Given the description of an element on the screen output the (x, y) to click on. 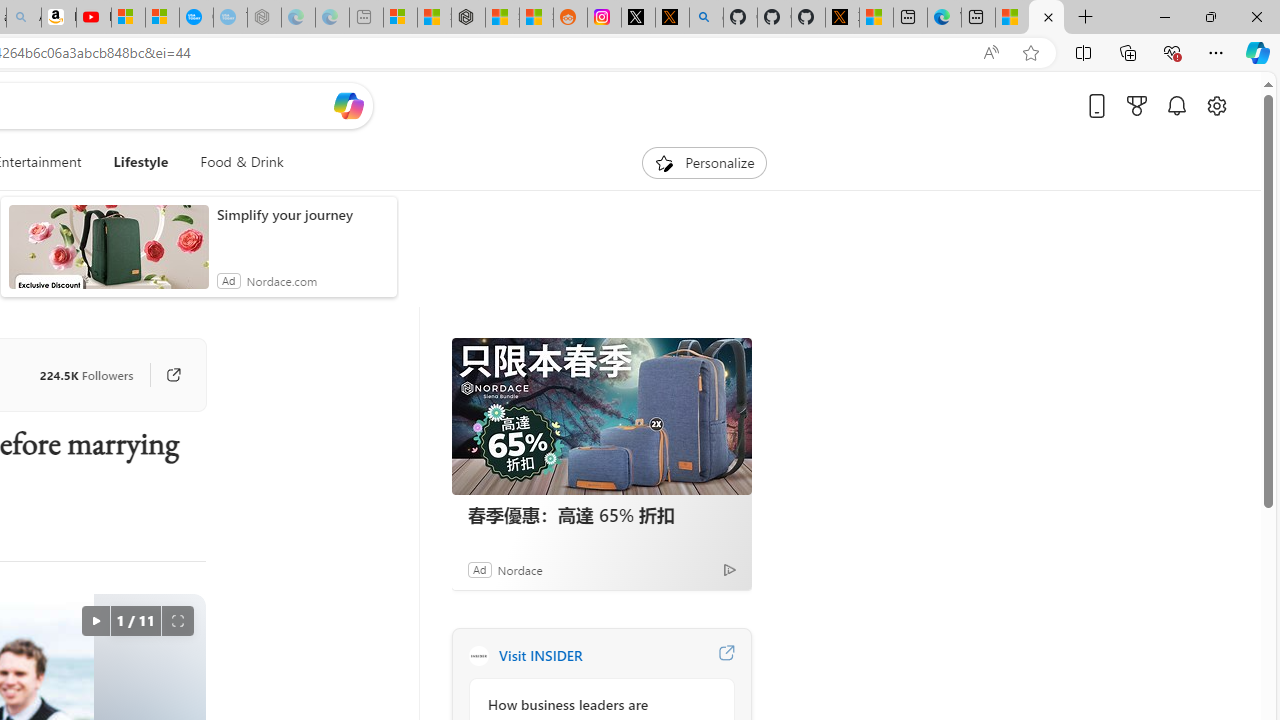
anim-content (107, 255)
New tab (978, 17)
Lifestyle (141, 162)
Open settings (1216, 105)
Minimize (1164, 16)
Nordace - Duffels (468, 17)
New Tab (1085, 17)
Settings and more (Alt+F) (1215, 52)
Personalize (703, 162)
